Given the description of an element on the screen output the (x, y) to click on. 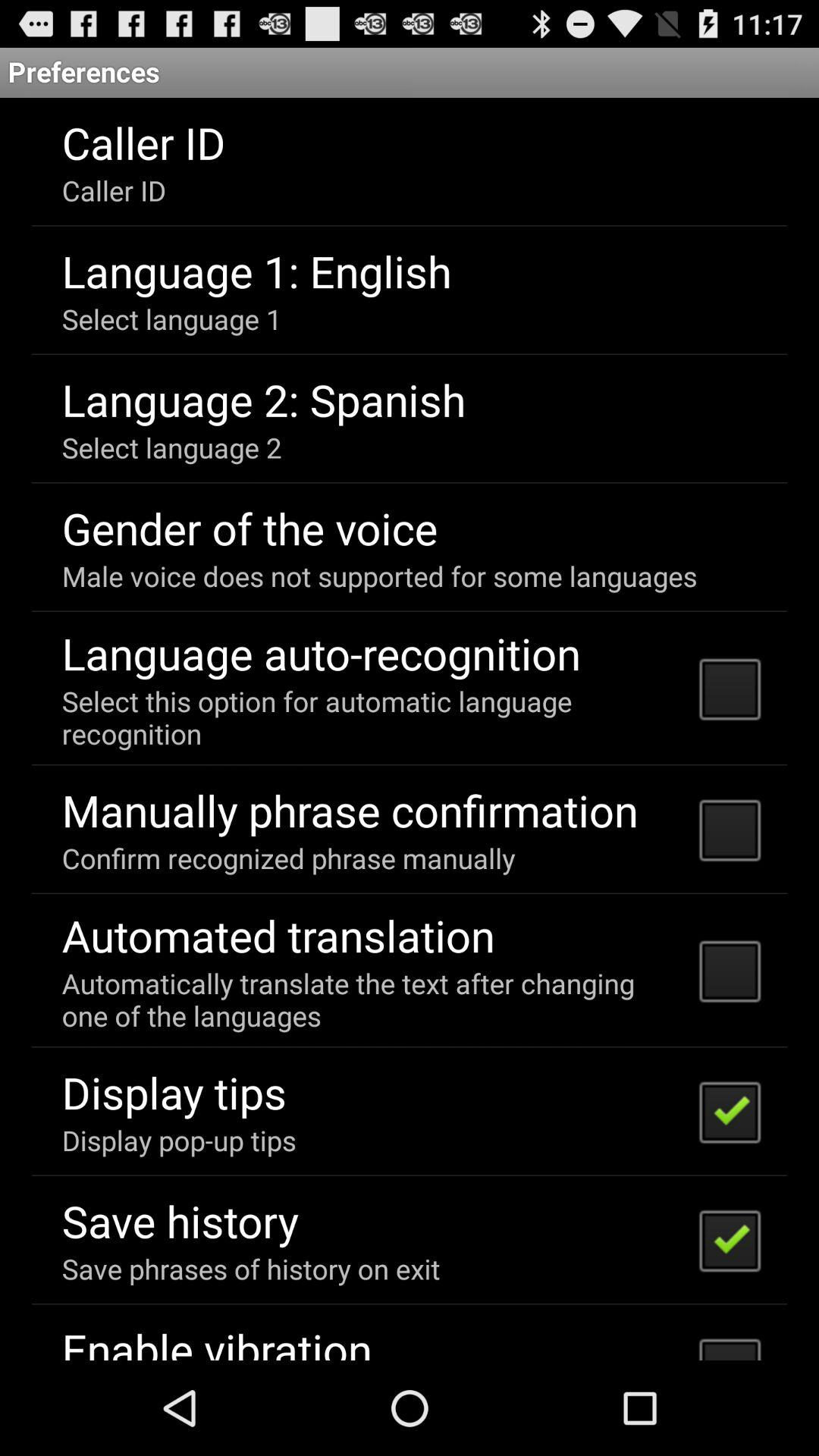
select the app at the bottom (370, 999)
